Given the description of an element on the screen output the (x, y) to click on. 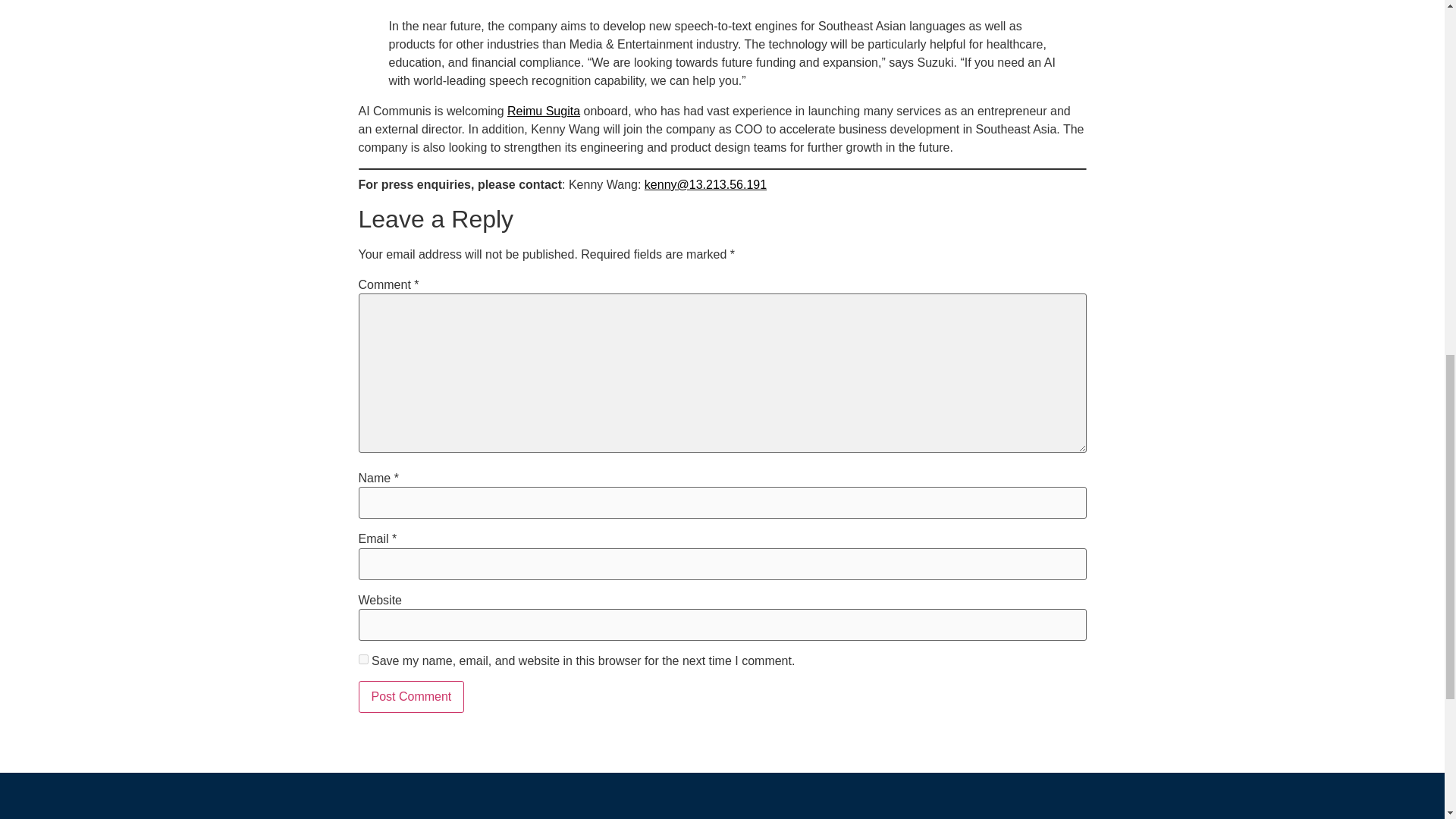
Post Comment (411, 696)
yes (363, 659)
Post Comment (411, 696)
Reimu Sugita (542, 110)
